Given the description of an element on the screen output the (x, y) to click on. 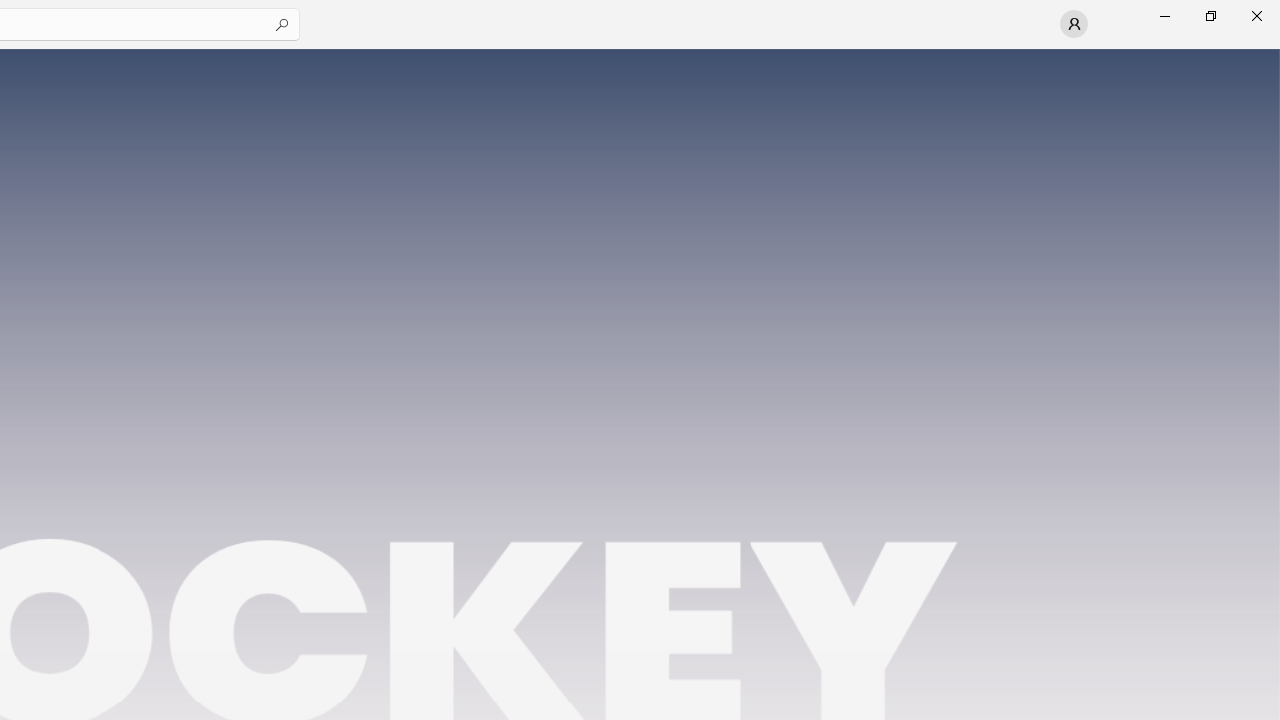
User profile (1073, 24)
Close Microsoft Store (1256, 15)
Minimize Microsoft Store (1164, 15)
Restore Microsoft Store (1210, 15)
